Given the description of an element on the screen output the (x, y) to click on. 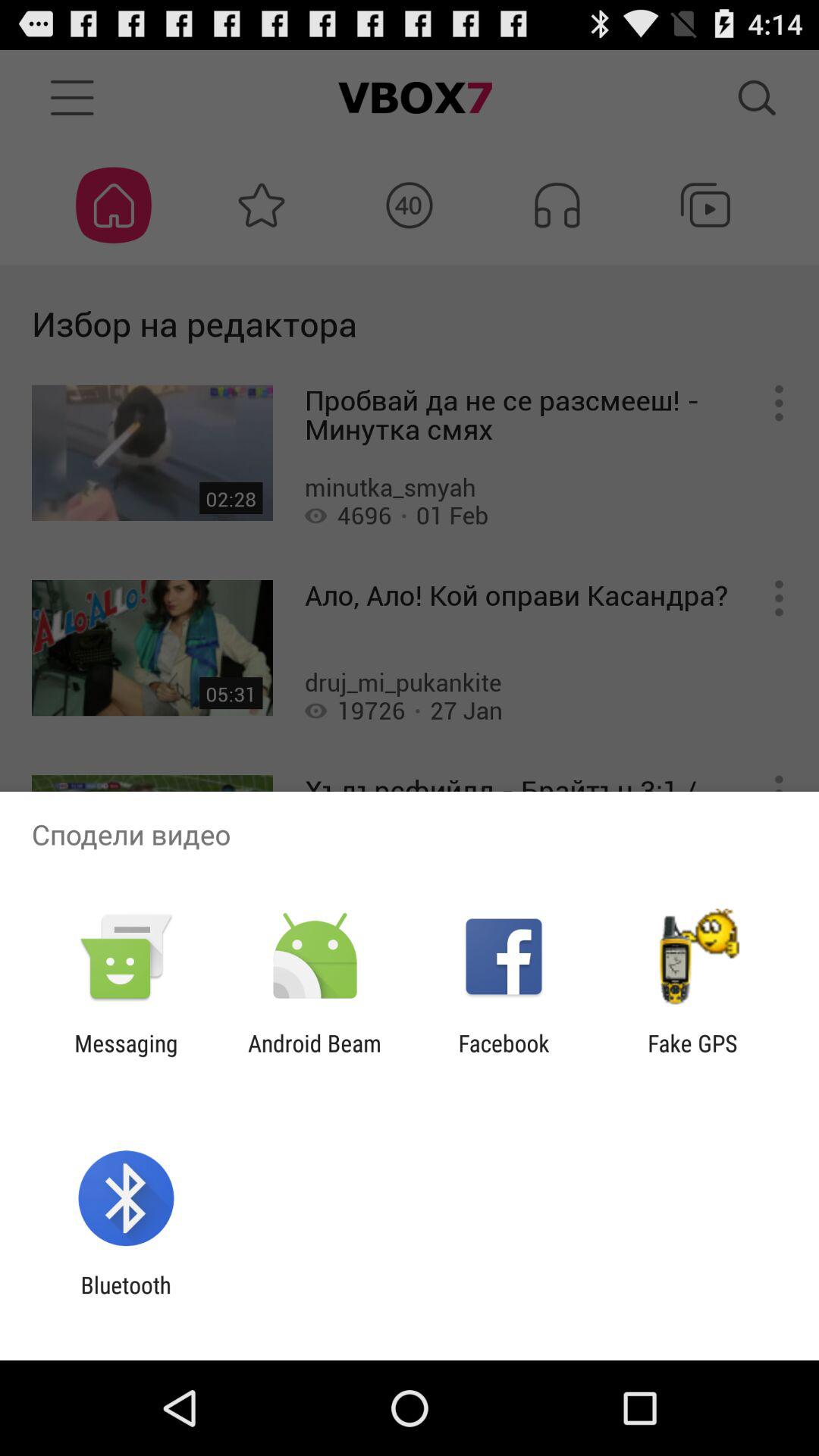
open the app next to facebook item (314, 1056)
